Given the description of an element on the screen output the (x, y) to click on. 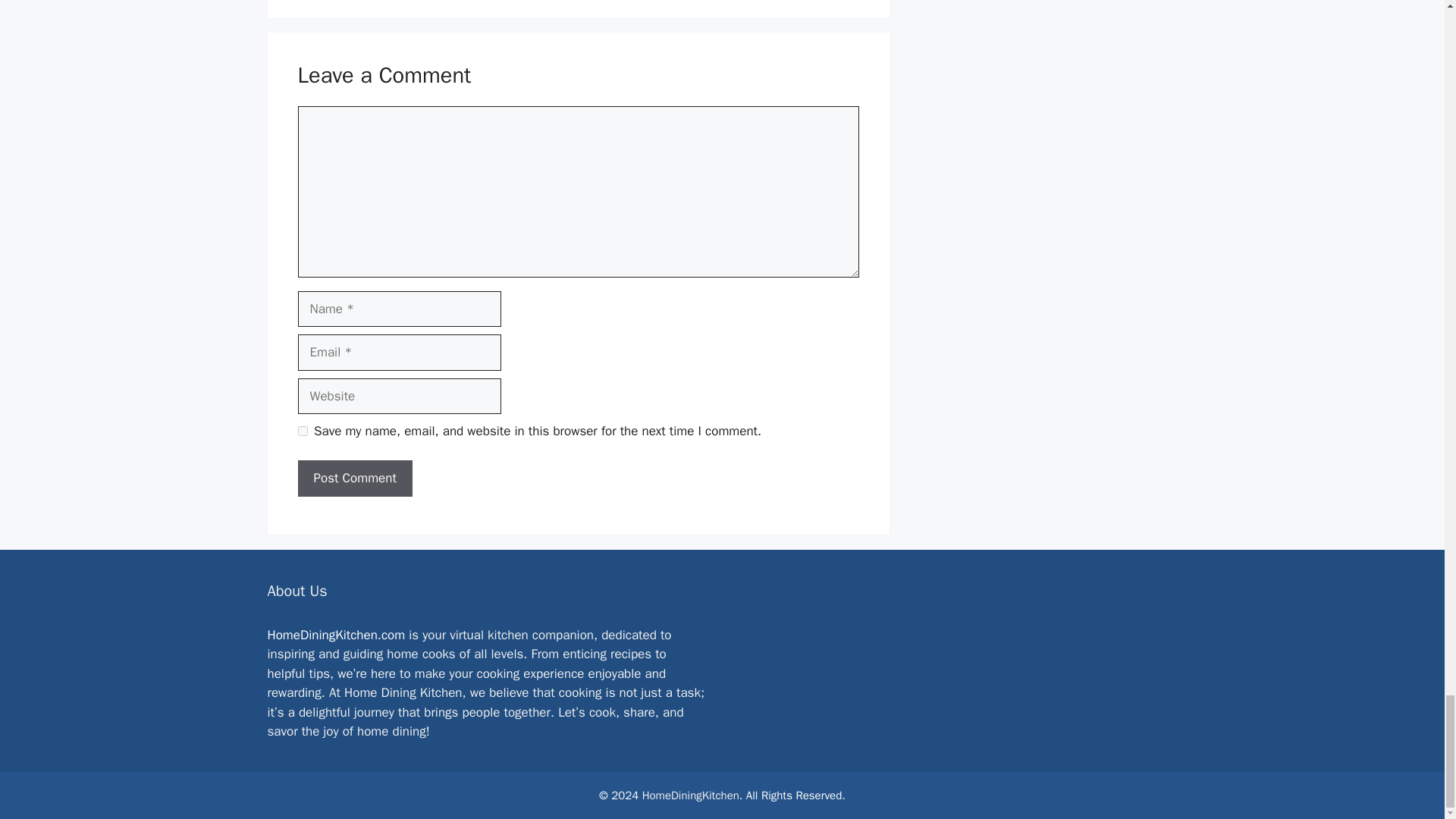
Post Comment (354, 478)
yes (302, 430)
Post Comment (354, 478)
HomeDiningKitchen.com (335, 634)
HomeDiningKitchen (690, 795)
